Given the description of an element on the screen output the (x, y) to click on. 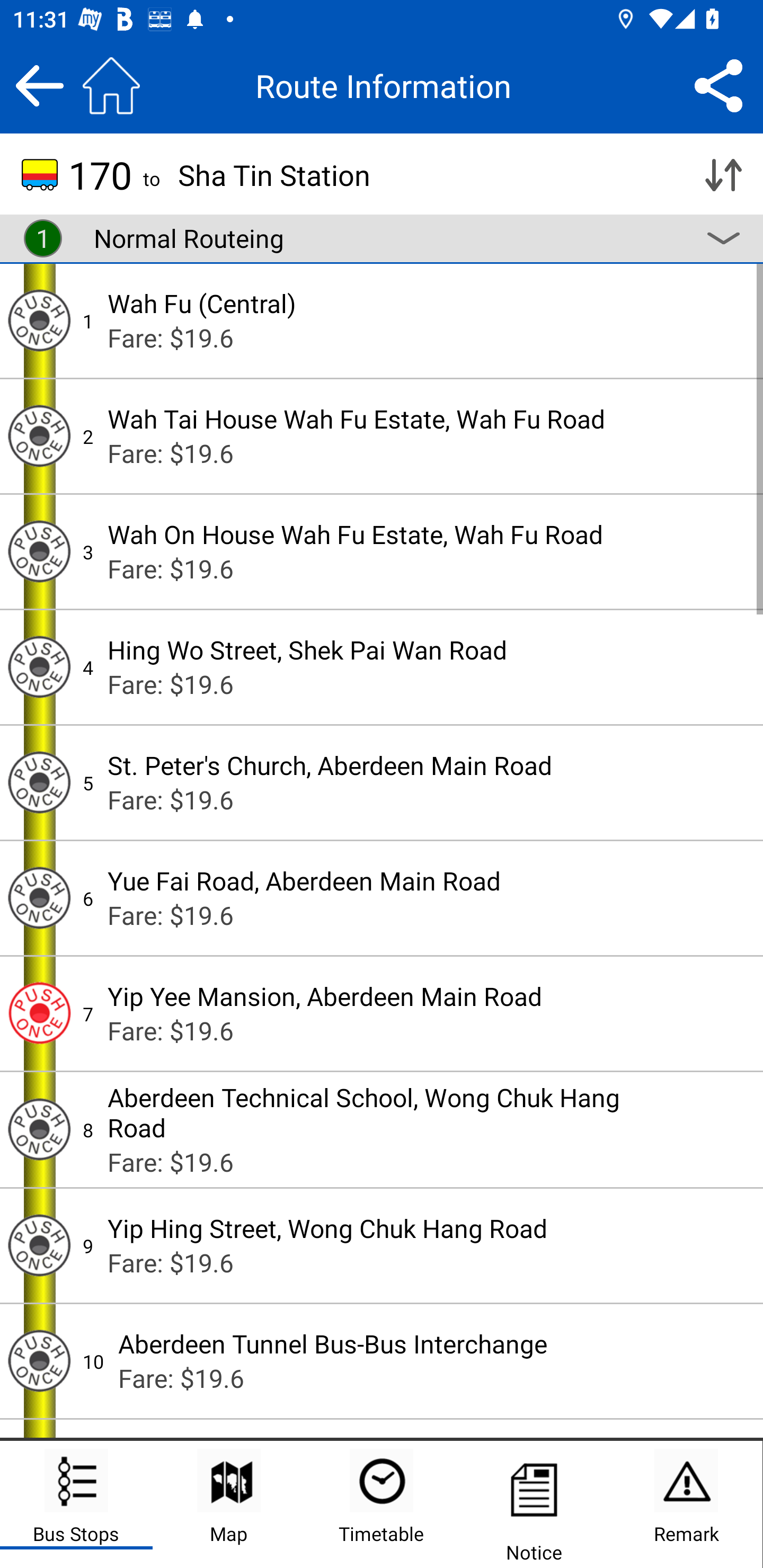
Jump to home page (111, 85)
Share point to point route search criteria) (718, 85)
Back (39, 85)
Reverse direction (723, 174)
Other routes (723, 238)
Alight Reminder (39, 320)
Alight Reminder (39, 435)
Alight Reminder (39, 551)
Alight Reminder (39, 667)
Alight Reminder (39, 782)
Alight Reminder (39, 897)
Alight Reminder (39, 1013)
Alight Reminder (39, 1129)
Alight Reminder (39, 1245)
Alight Reminder (39, 1360)
Bus Stops (76, 1504)
Map (228, 1504)
Timetable (381, 1504)
Notice (533, 1504)
Remark (686, 1504)
